Given the description of an element on the screen output the (x, y) to click on. 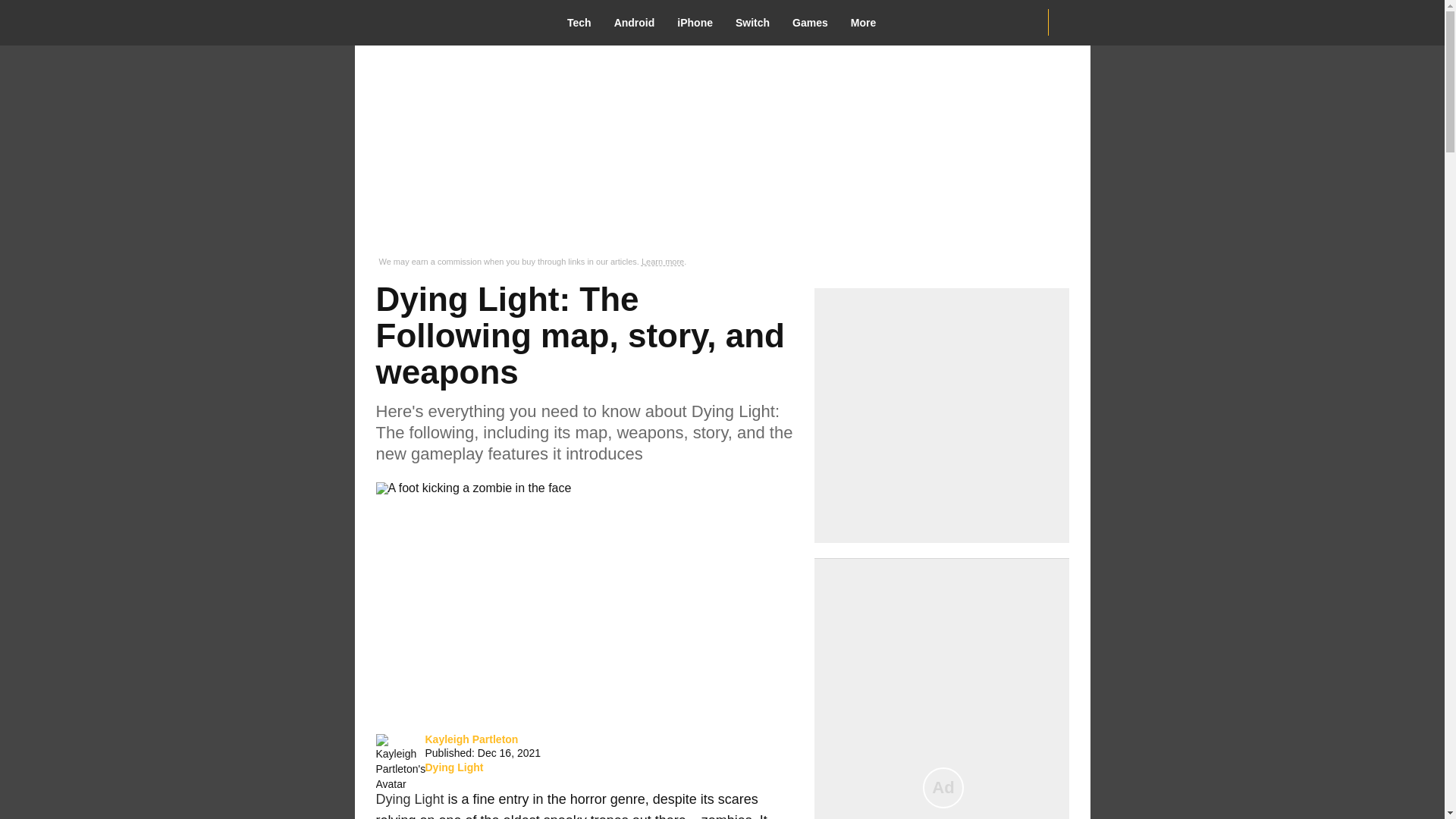
Learn more (663, 261)
Kayleigh Partleton (471, 739)
Dying Light: The Following map, story, and weapons (473, 488)
Pocket Tactics (448, 22)
Games (816, 22)
iPhone (700, 22)
Dying Light (454, 767)
Android (640, 22)
Dying Light (409, 798)
Switch (757, 22)
